Given the description of an element on the screen output the (x, y) to click on. 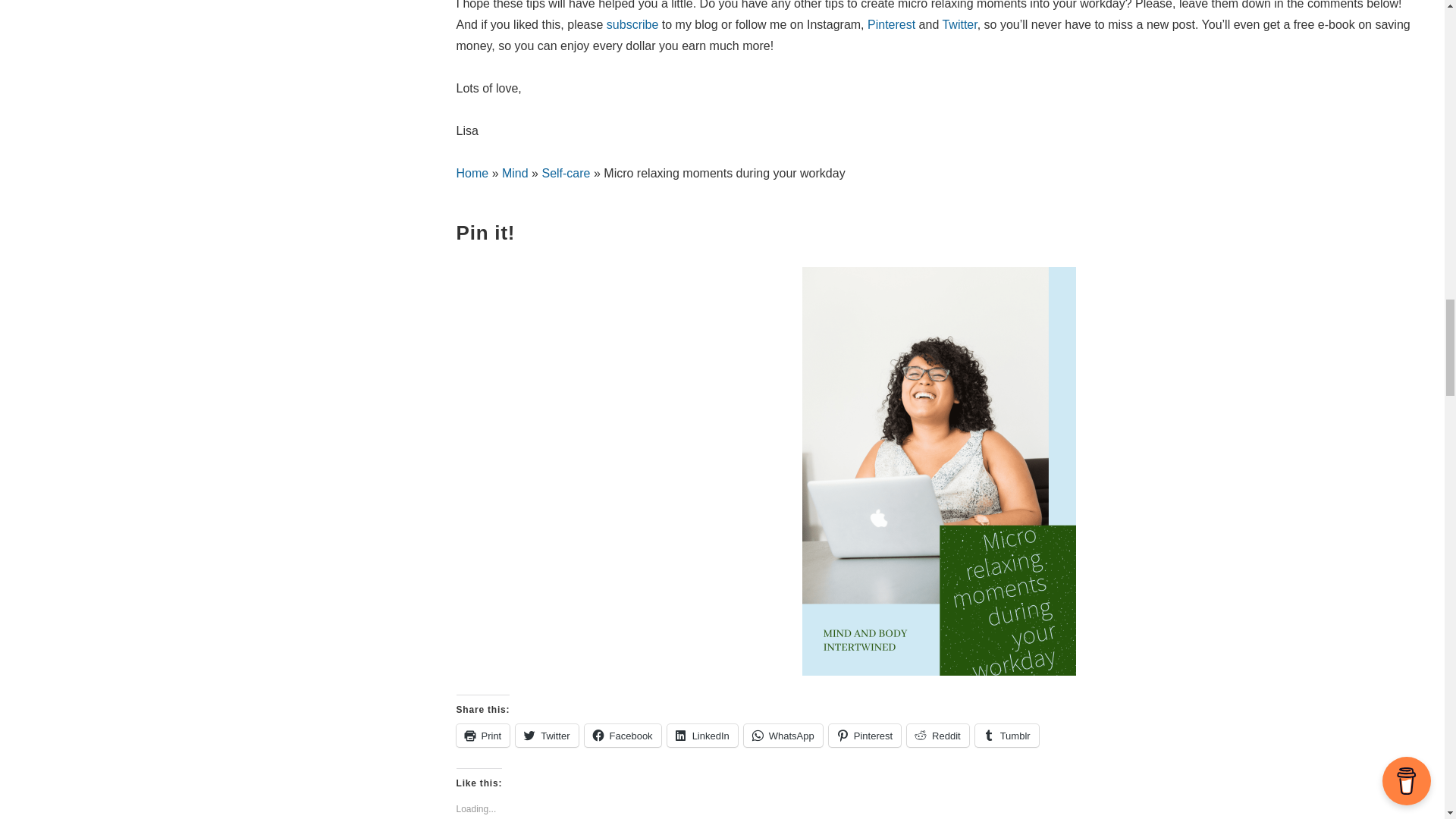
Click to share on WhatsApp (783, 734)
Click to share on Reddit (938, 734)
Click to share on Twitter (546, 734)
Click to print (484, 734)
Self-care (565, 173)
Twitter (546, 734)
Mind (515, 173)
Print (484, 734)
Click to share on Tumblr (1007, 734)
Facebook (623, 734)
Pinterest (891, 24)
Reddit (938, 734)
Click to share on Facebook (623, 734)
LinkedIn (702, 734)
WhatsApp (783, 734)
